Given the description of an element on the screen output the (x, y) to click on. 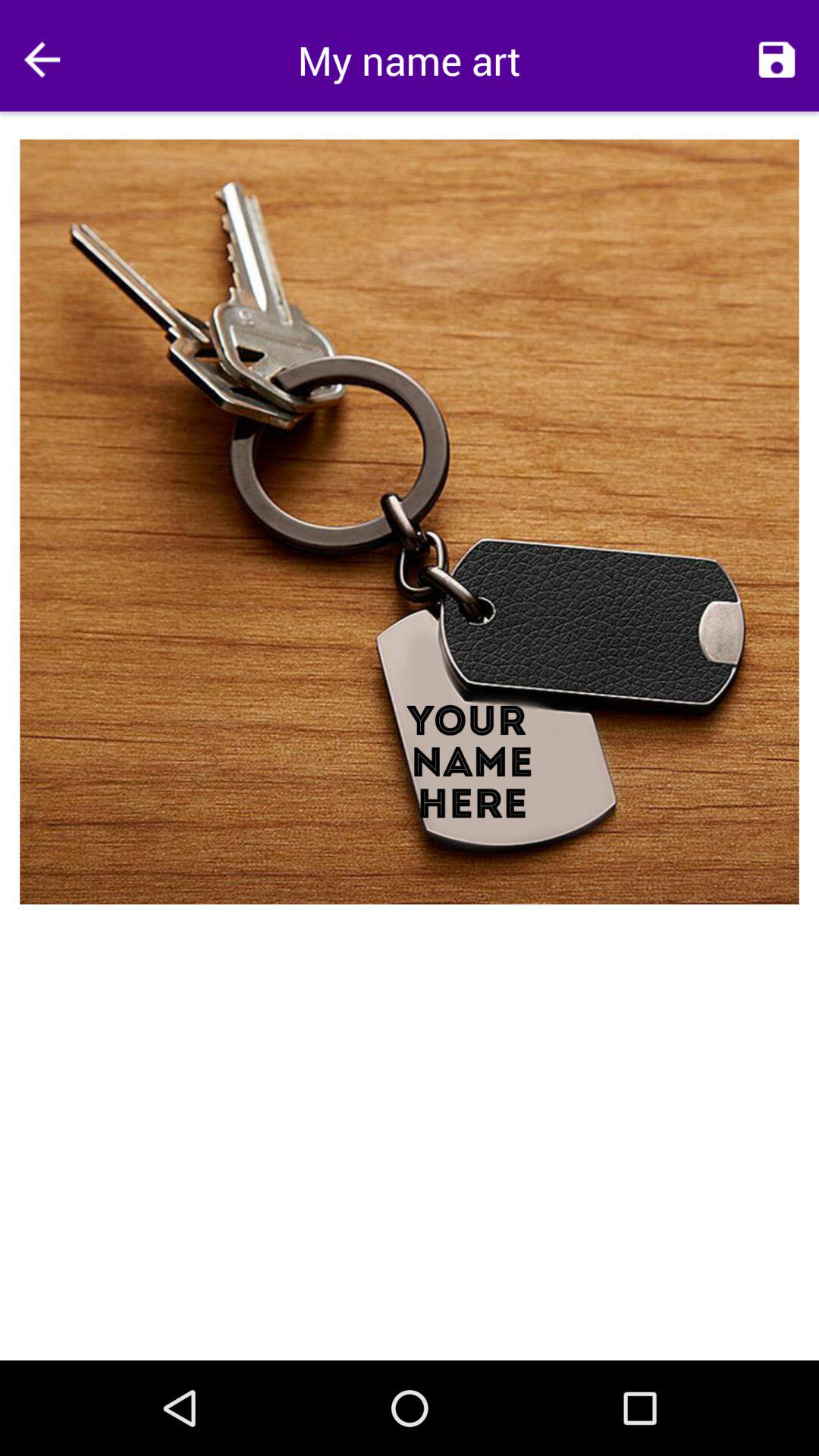
choose icon at the top right corner (776, 59)
